Given the description of an element on the screen output the (x, y) to click on. 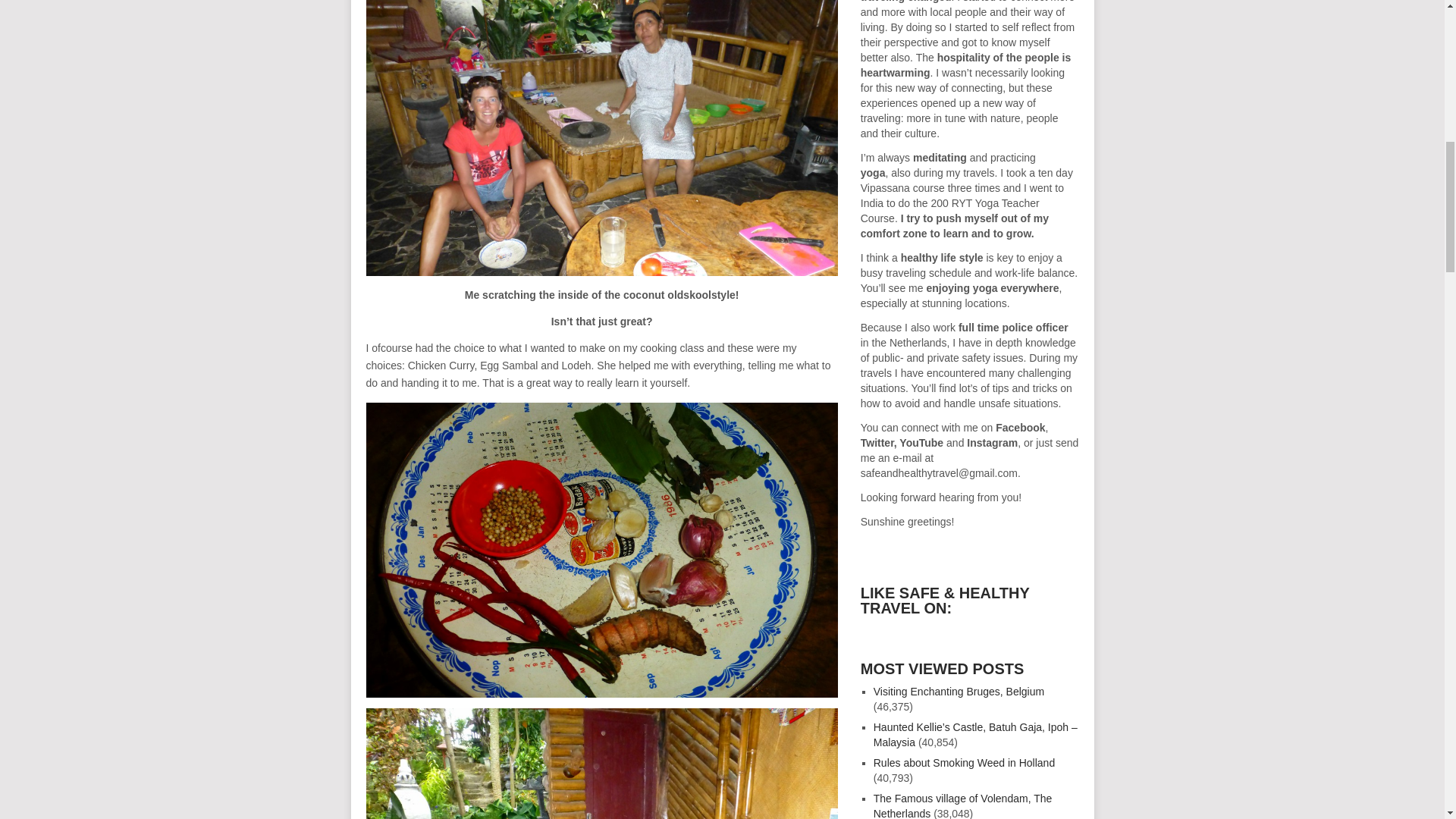
Cooking class at Juwita's Cafe (601, 138)
Cooking class at Juwita's Cafe (601, 763)
